Given the description of an element on the screen output the (x, y) to click on. 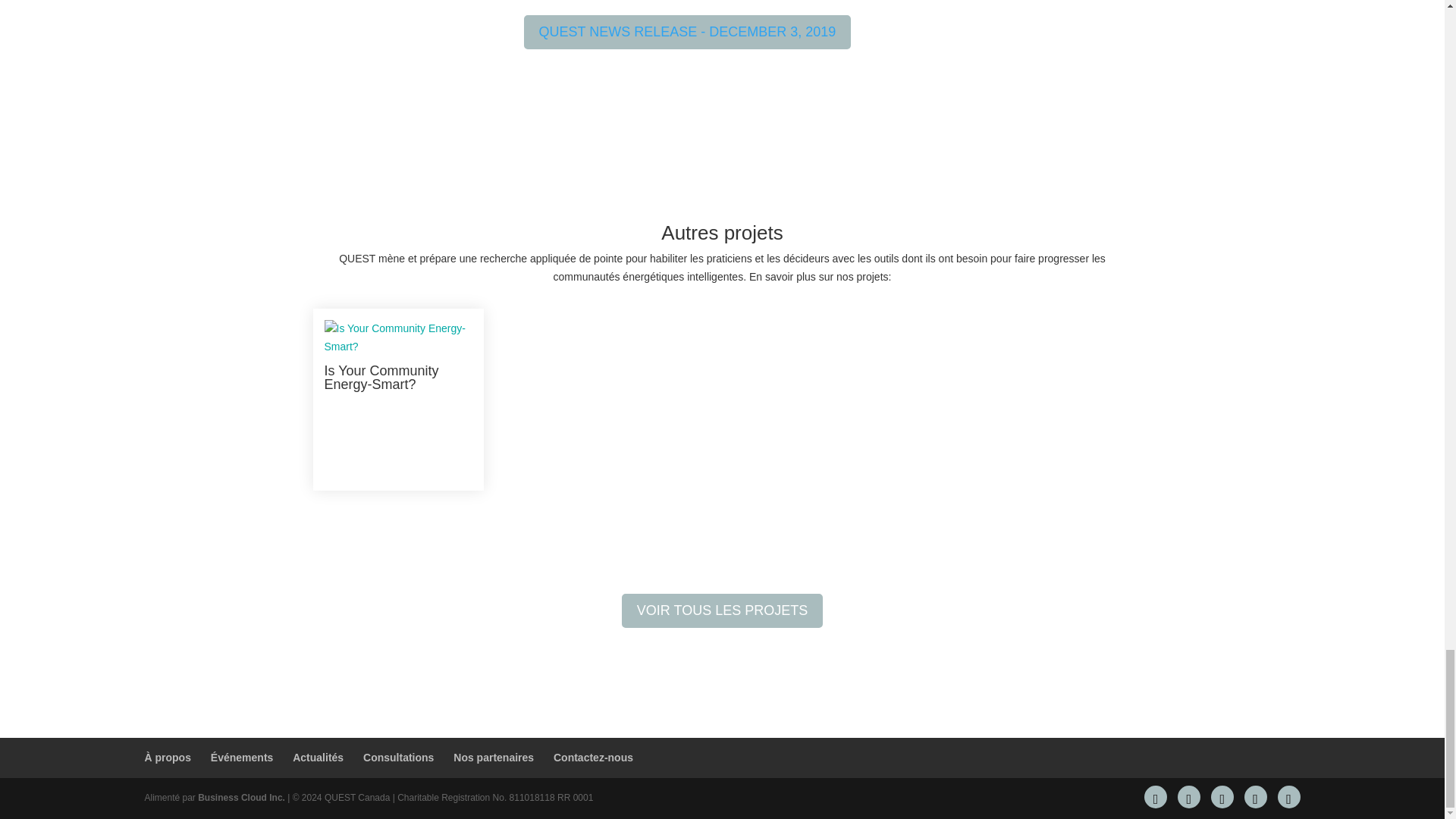
Is Your Community Energy-Smart? (381, 377)
VOIR TOUS LES PROJETS (721, 610)
QUEST NEWS RELEASE - DECEMBER 3, 2019 (687, 32)
Is Your Community Energy-Smart? (381, 377)
Is Your Community Energy-Smart? (397, 338)
